Given the description of an element on the screen output the (x, y) to click on. 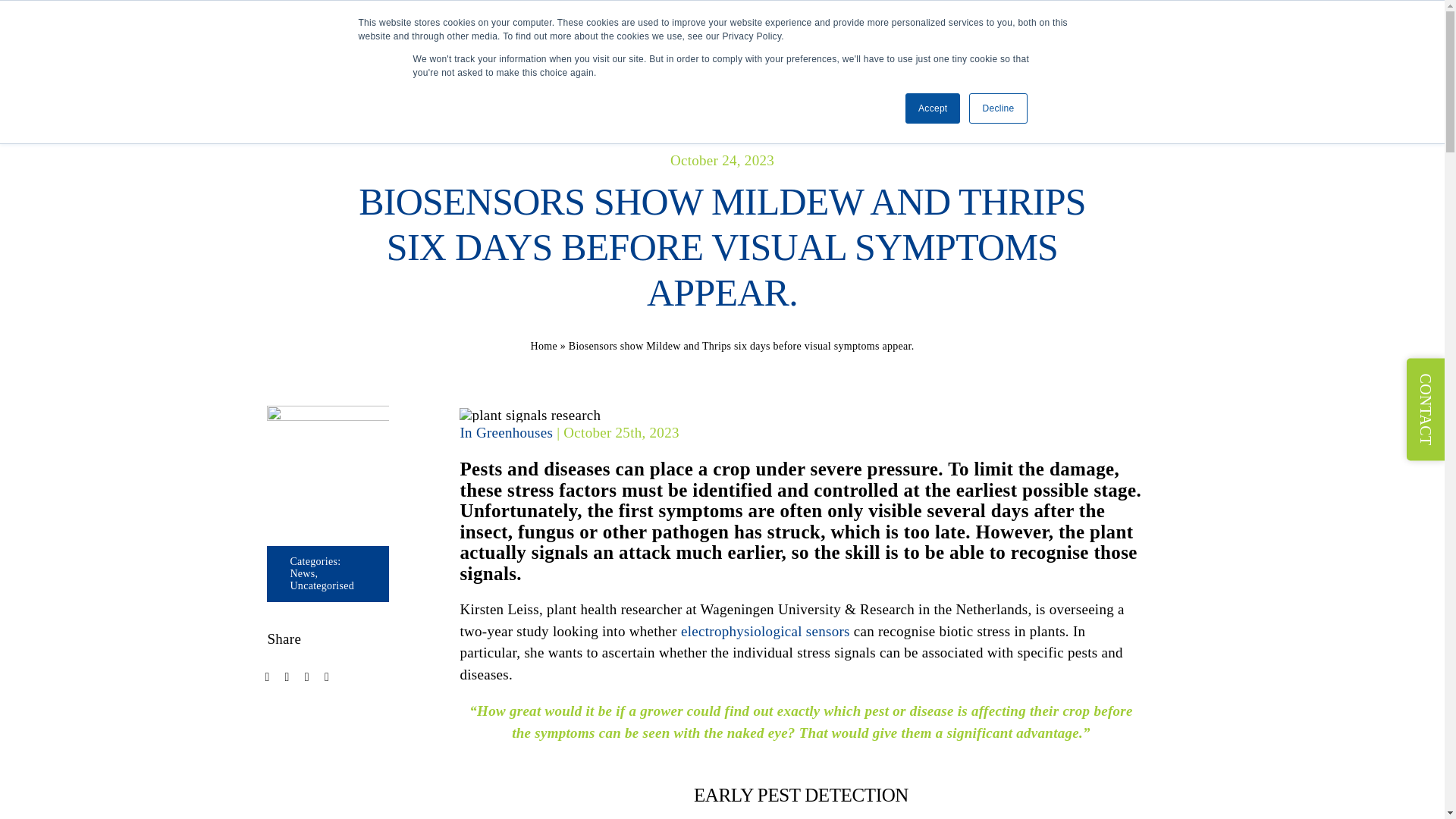
TECHNOLOGY (682, 33)
COMPANY (786, 33)
CONTACT (1139, 33)
Ontwerp zonder titel (327, 466)
Accept (932, 108)
Decline (997, 108)
Page 1 (800, 794)
Researchbiosensor (529, 414)
SOLUTIONS (572, 33)
CLIENT ACCESS (1010, 33)
